Given the description of an element on the screen output the (x, y) to click on. 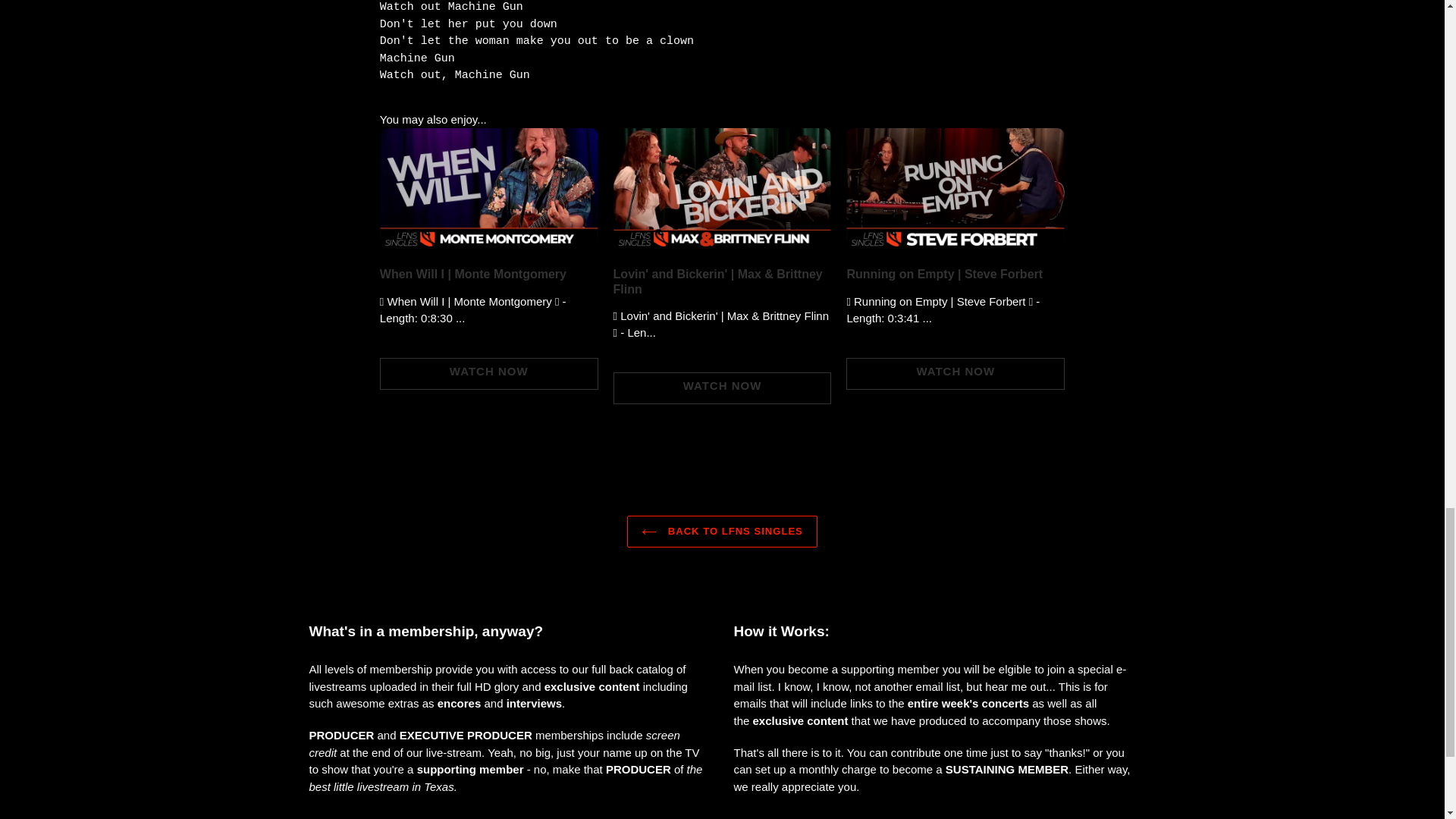
WATCH NOW (489, 373)
BACK TO LFNS SINGLES (721, 531)
WATCH NOW (721, 388)
WATCH NOW (954, 373)
